Given the description of an element on the screen output the (x, y) to click on. 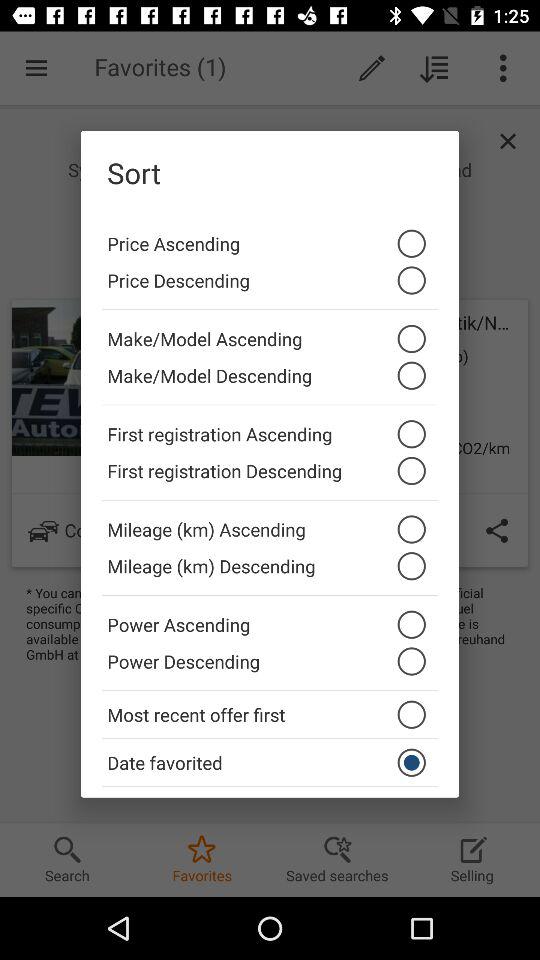
tap the icon below price ascending icon (269, 285)
